Given the description of an element on the screen output the (x, y) to click on. 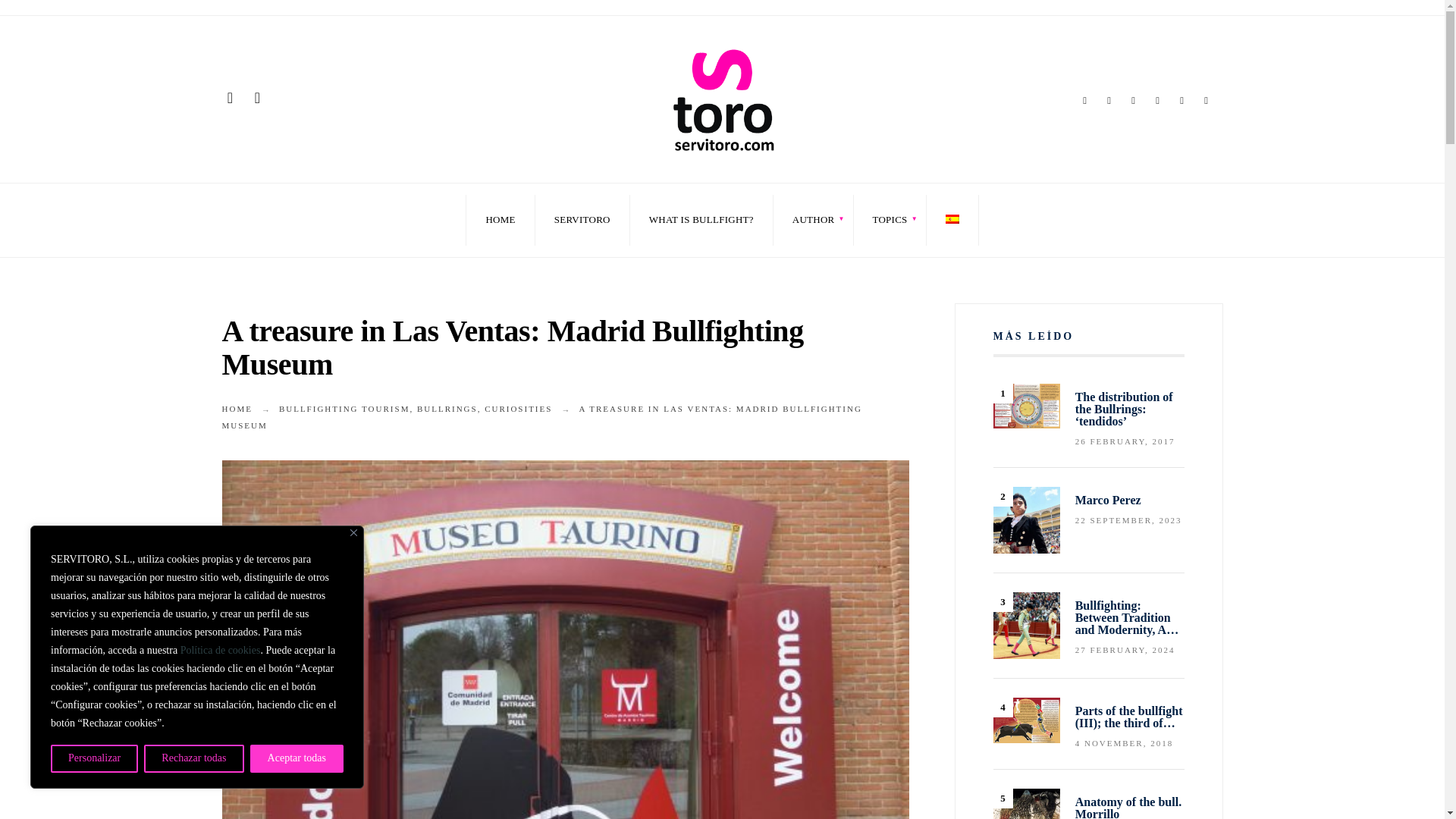
AUTHOR (813, 219)
Aceptar todas (296, 758)
HOME (500, 219)
WHAT IS BULLFIGHT? (700, 219)
SERVITORO (582, 219)
YouTube (1181, 101)
Personalizar (94, 758)
Anatomy of the bull. Morrillo (1025, 803)
Rechazar todas (193, 758)
Marco Perez (1025, 519)
Pinterest (1156, 101)
Instagram (1132, 101)
TOPICS (890, 219)
Twitter (1108, 101)
Facebook (1083, 101)
